Given the description of an element on the screen output the (x, y) to click on. 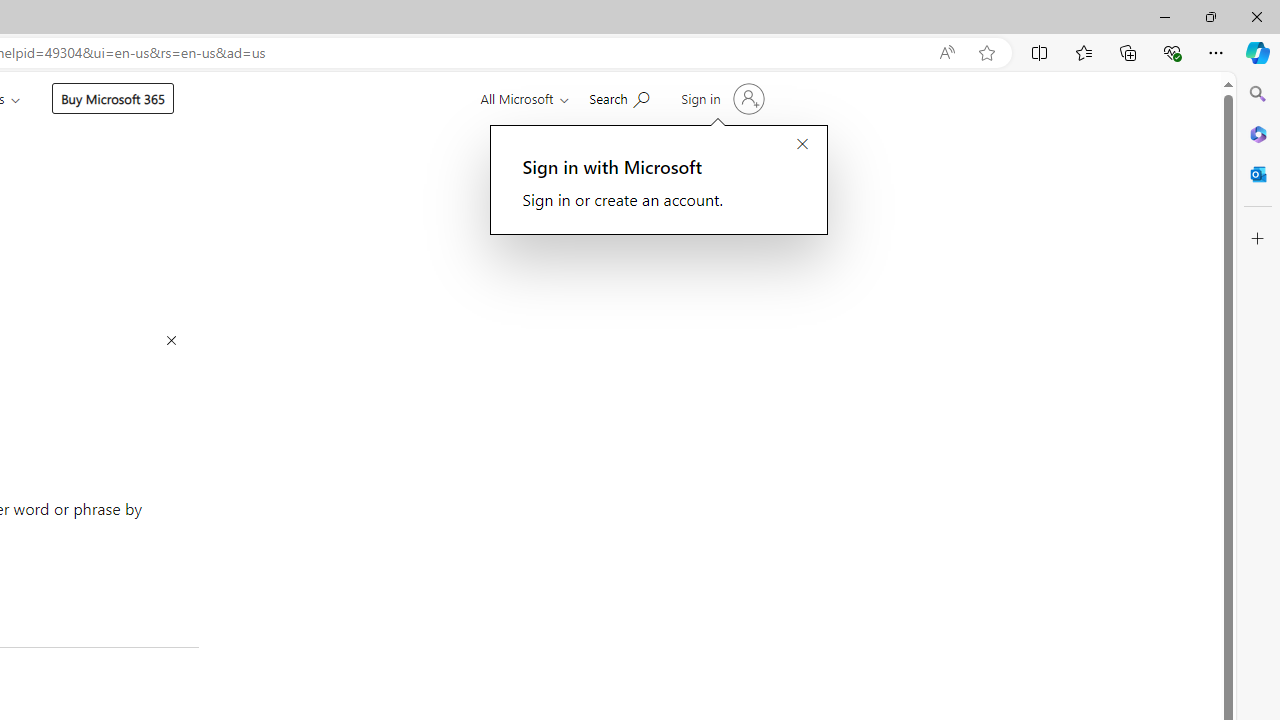
Buy Microsoft 365 (112, 98)
Outlook (1258, 174)
Settings and more (Alt+F) (1215, 52)
Browser essentials (1171, 52)
Copilot (Ctrl+Shift+.) (1258, 52)
